Given the description of an element on the screen output the (x, y) to click on. 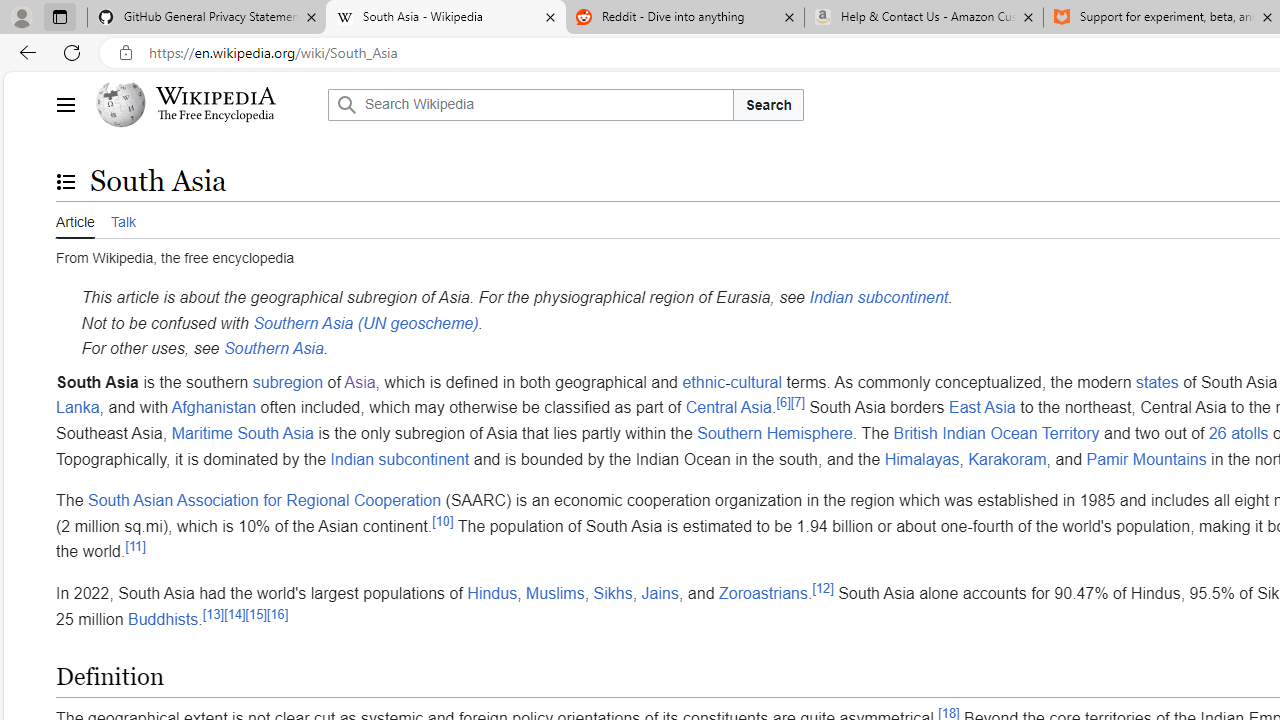
26 atolls (1238, 433)
Wikipedia The Free Encyclopedia (206, 104)
Buddhists (163, 618)
subregion (287, 381)
Article (75, 219)
Maritime South Asia (242, 433)
[10] (443, 520)
Article (75, 219)
Southern Asia (272, 348)
GitHub General Privacy Statement - GitHub Docs (207, 17)
